Given the description of an element on the screen output the (x, y) to click on. 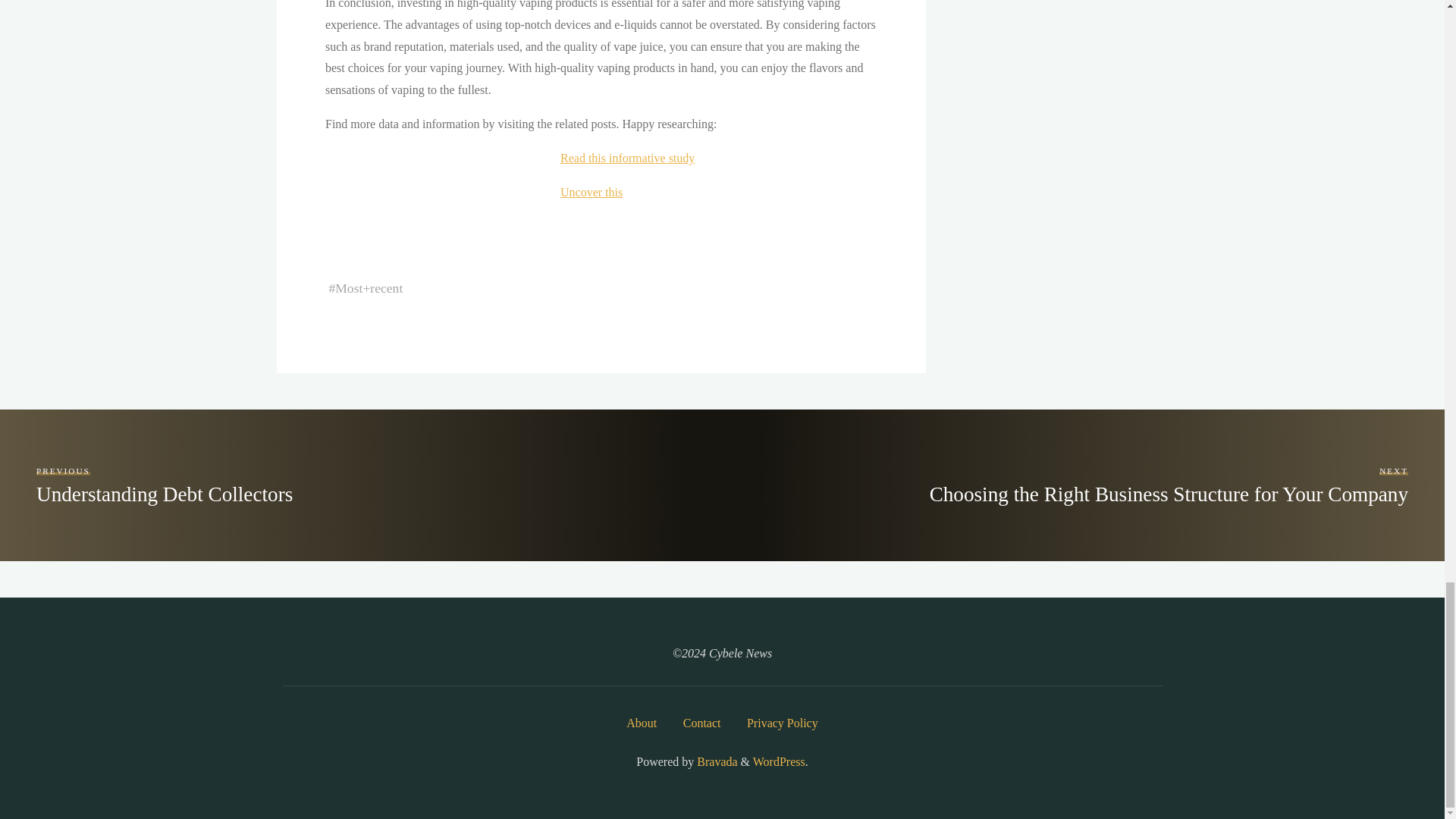
Read this informative study (626, 157)
Semantic Personal Publishing Platform (164, 485)
Bravada WordPress Theme by Cryout Creations (778, 761)
Uncover this (1168, 485)
